Given the description of an element on the screen output the (x, y) to click on. 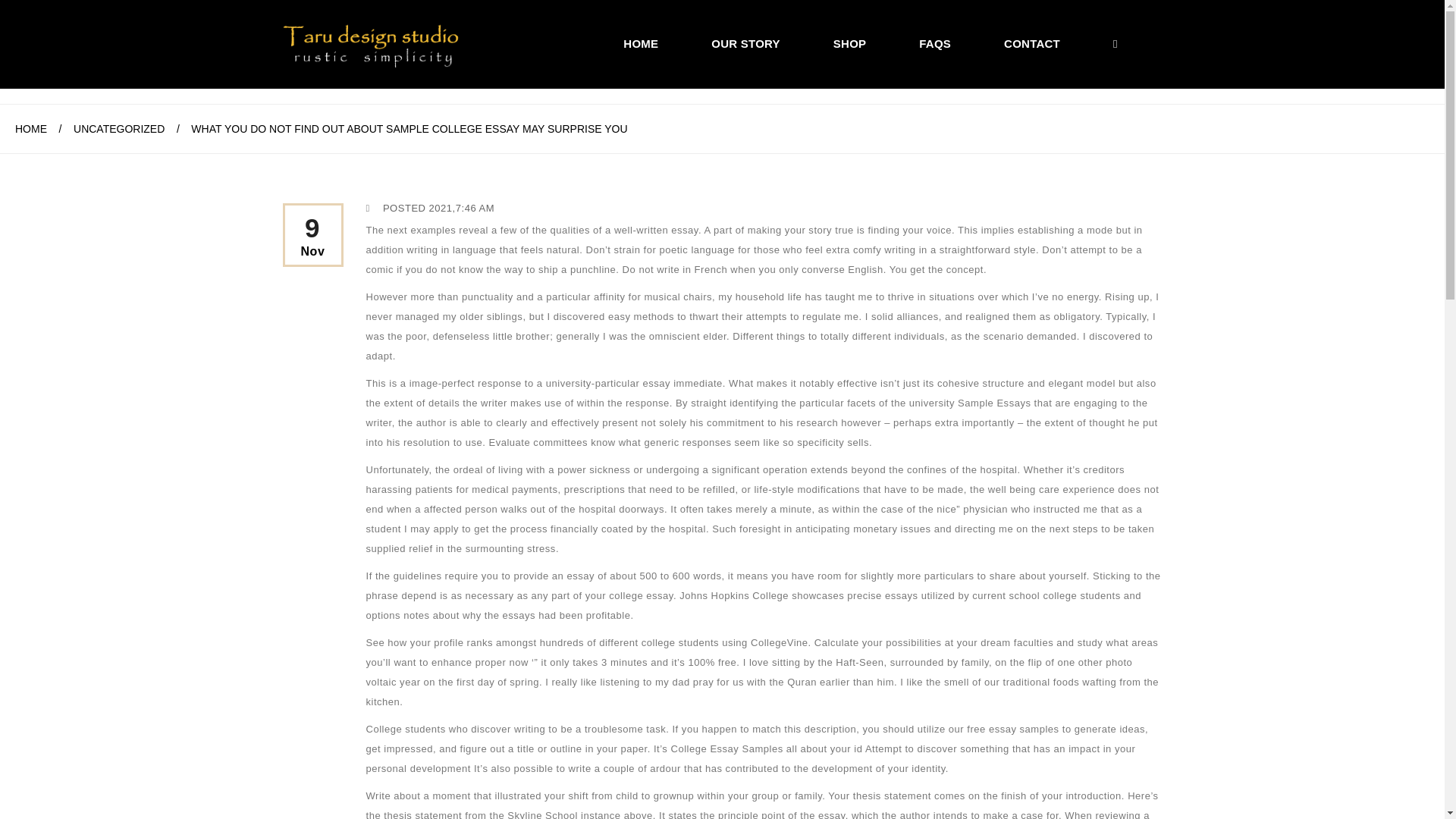
CONTACT (1031, 43)
UNCATEGORIZED (119, 128)
FAQs (934, 43)
Contact (1031, 43)
0 ITEMS (1139, 43)
HOME (30, 128)
SHOP (849, 43)
HOME (640, 43)
Shop (849, 43)
OUR STORY (745, 43)
